Given the description of an element on the screen output the (x, y) to click on. 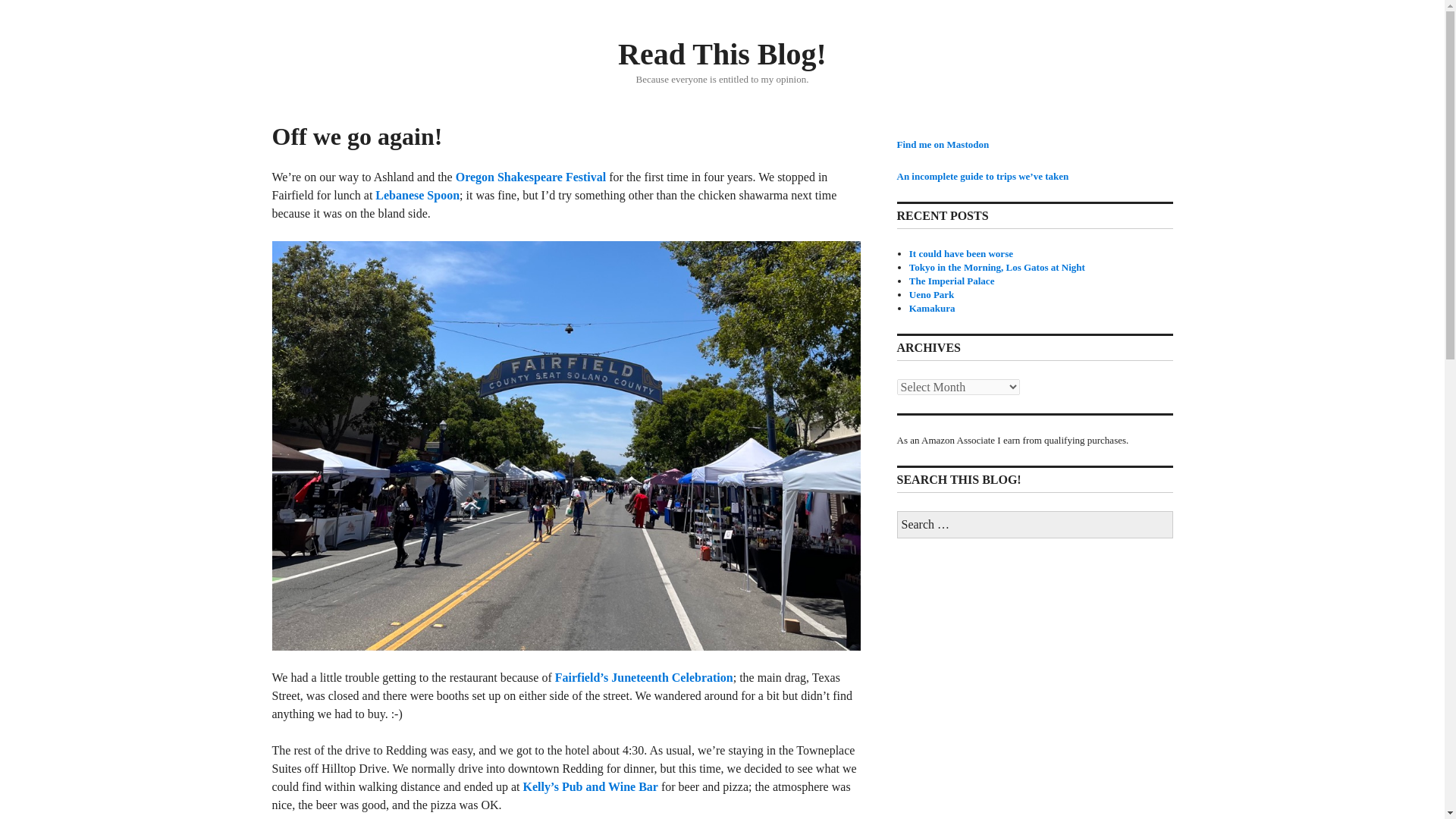
Search (8, 4)
Read This Blog! (722, 53)
Oregon Shakespeare Festival (531, 176)
It could have been worse (960, 253)
Ueno Park (931, 294)
Tokyo in the Morning, Los Gatos at Night (996, 266)
Find me on Mastodon (942, 143)
Lebanese Spoon (417, 195)
The Imperial Palace (951, 280)
Kamakura (931, 307)
